Given the description of an element on the screen output the (x, y) to click on. 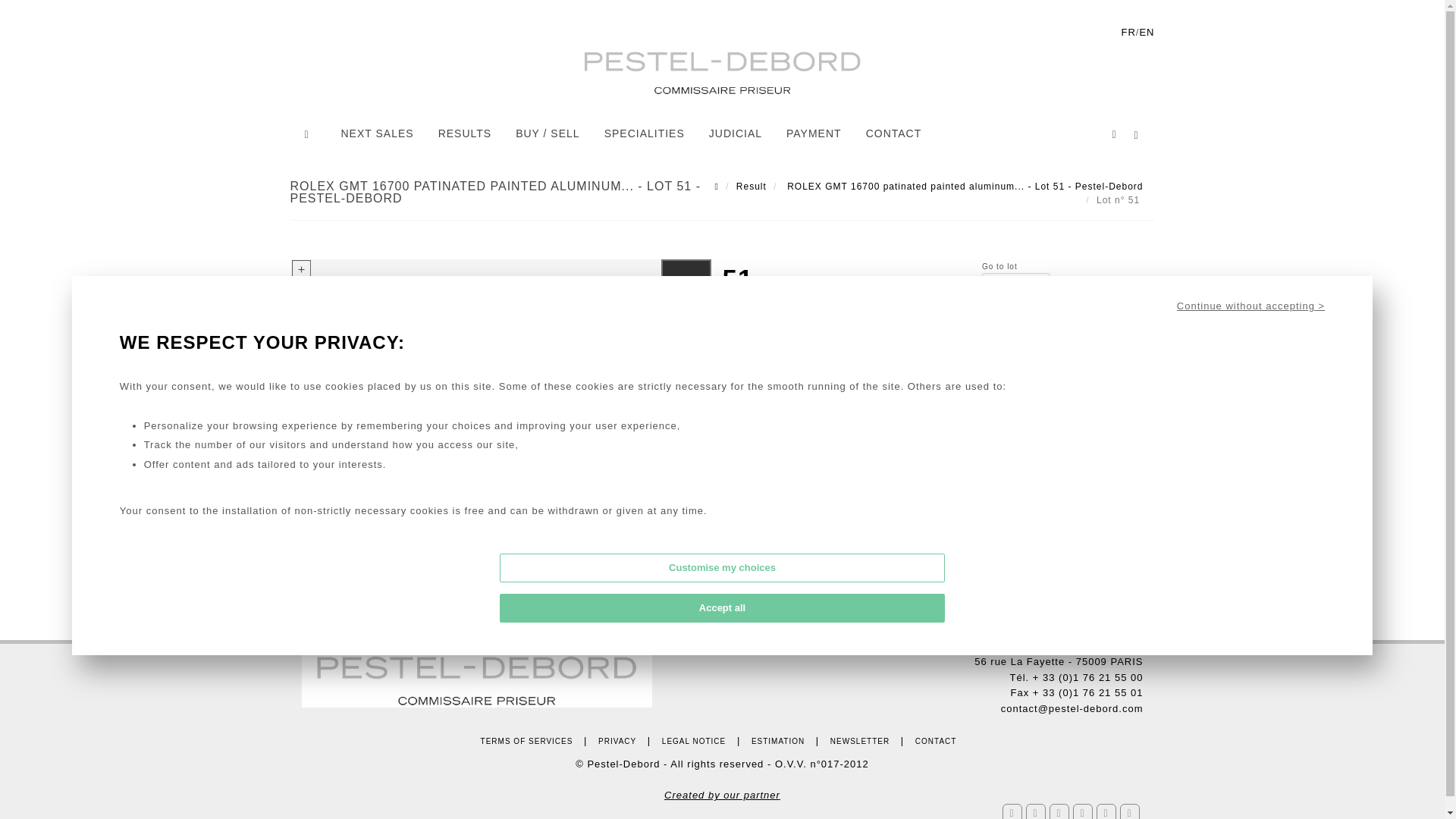
SALES CONDITIONS (931, 499)
CONTACT (893, 134)
NEXT SALES (377, 134)
SALE INFORMATION (931, 476)
JUDICIAL (735, 134)
EN (1146, 31)
RESULTS (464, 134)
Result (751, 185)
SPECIALITIES (643, 134)
PAYMENT (813, 134)
FR (1128, 31)
